Given the description of an element on the screen output the (x, y) to click on. 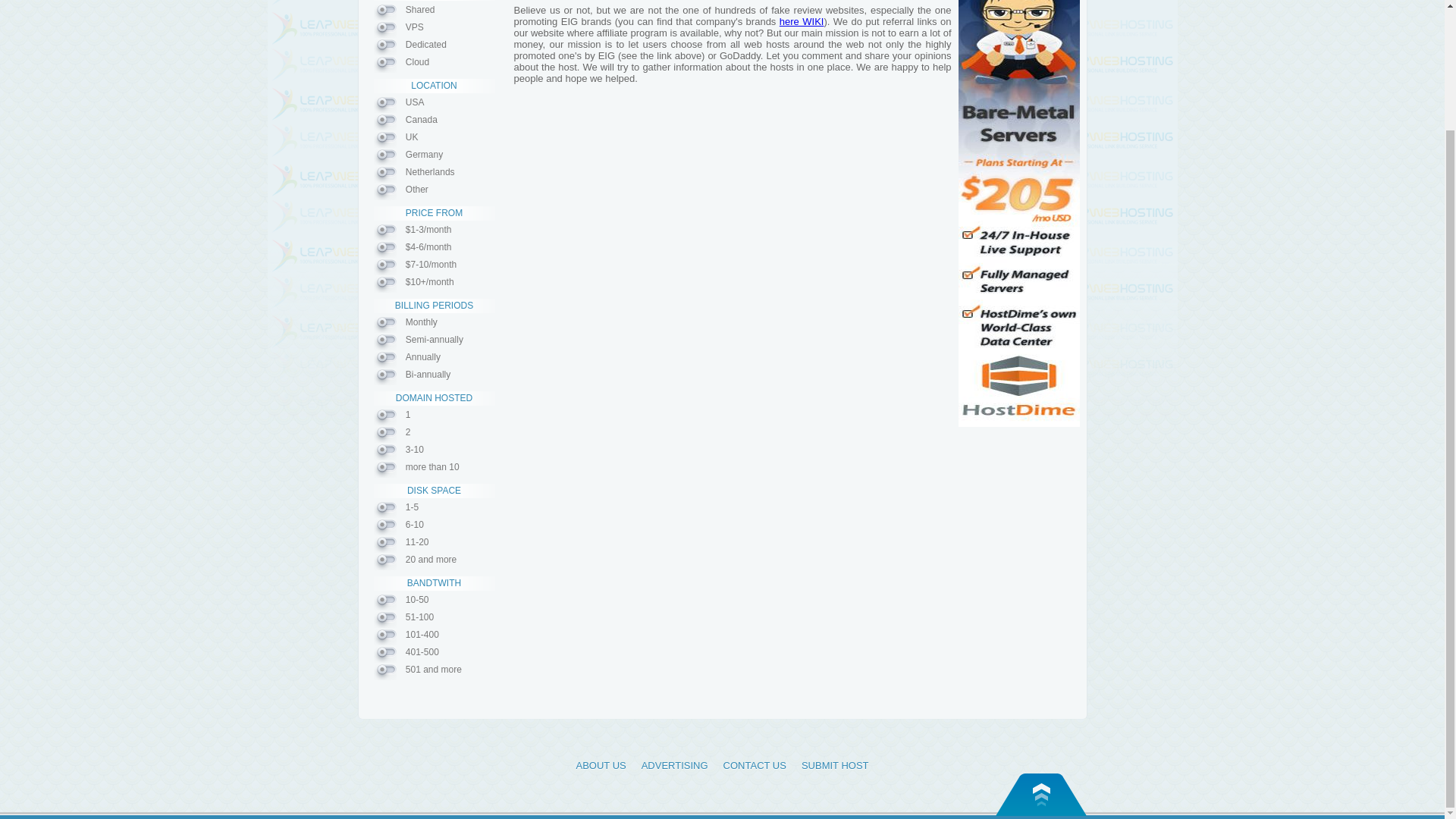
SUBMIT HOST (835, 765)
CONTACT US (754, 765)
ADVERTISING (674, 765)
here WIKI (801, 21)
ABOUT US (600, 765)
